Given the description of an element on the screen output the (x, y) to click on. 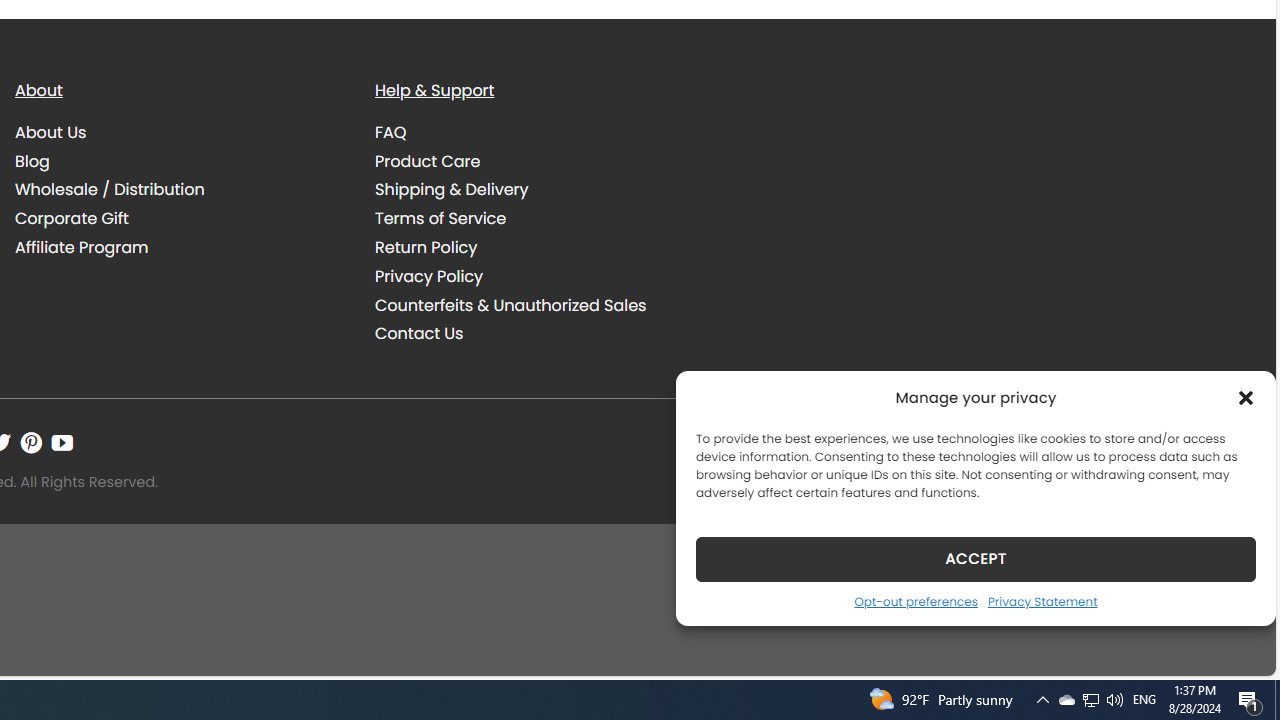
Return Policy (540, 247)
Privacy Statement (1042, 601)
About Us (51, 132)
